Given the description of an element on the screen output the (x, y) to click on. 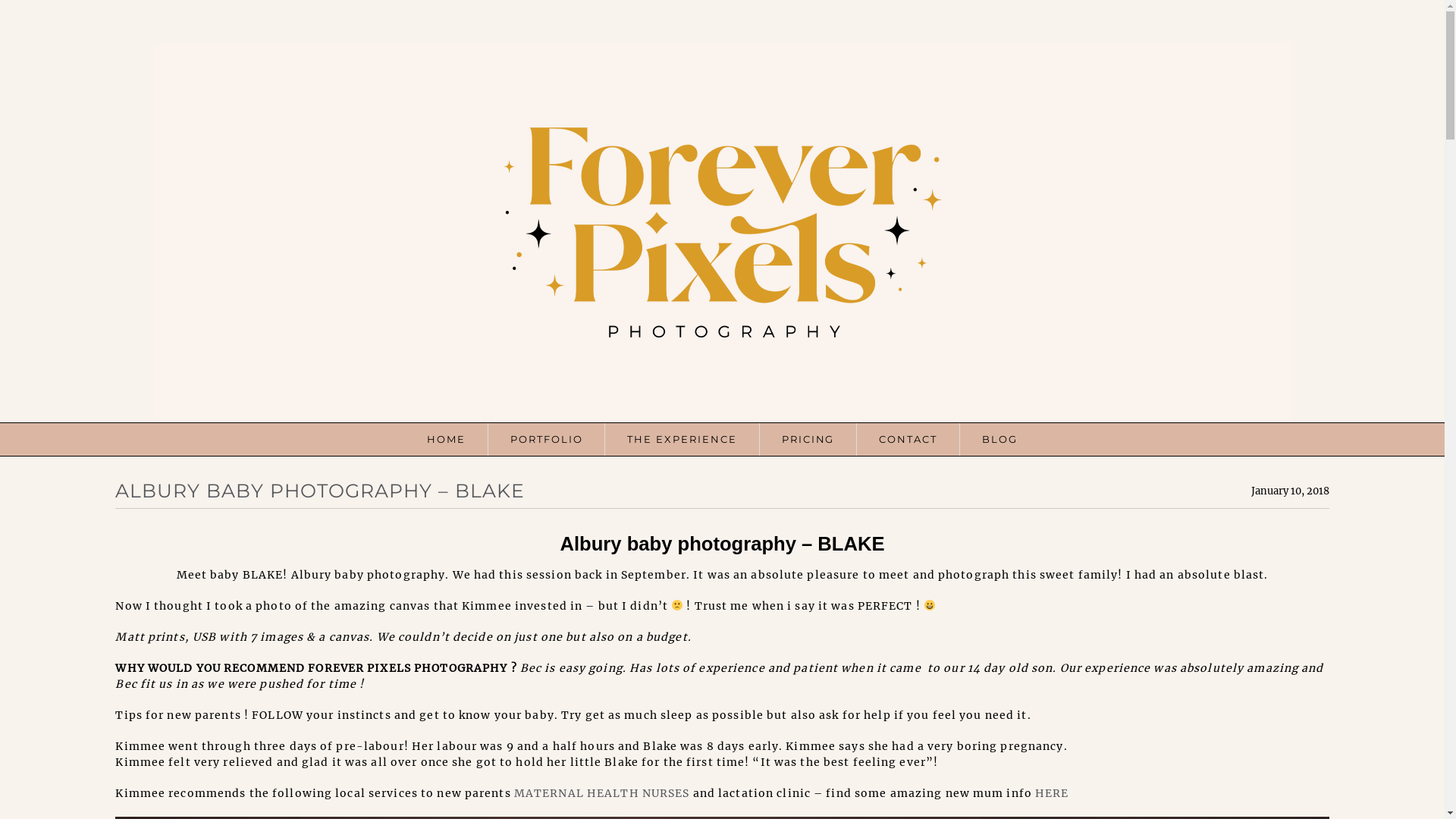
MATERNAL HEALTH NURSES Element type: text (602, 793)
CONTACT Element type: text (907, 439)
HERE Element type: text (1051, 793)
HOME Element type: text (445, 439)
BLOG Element type: text (999, 439)
